Given the description of an element on the screen output the (x, y) to click on. 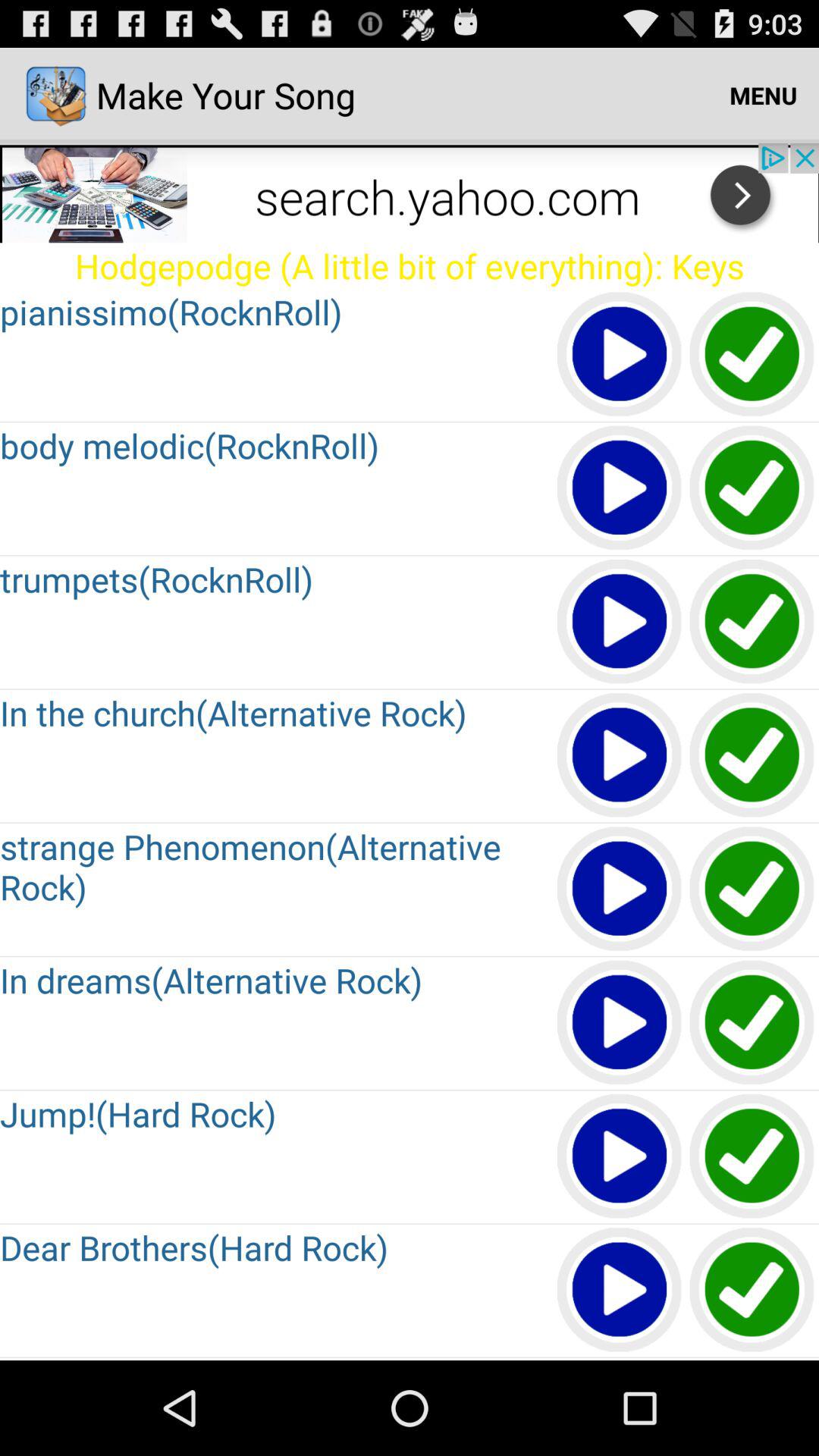
search box (409, 192)
